Given the description of an element on the screen output the (x, y) to click on. 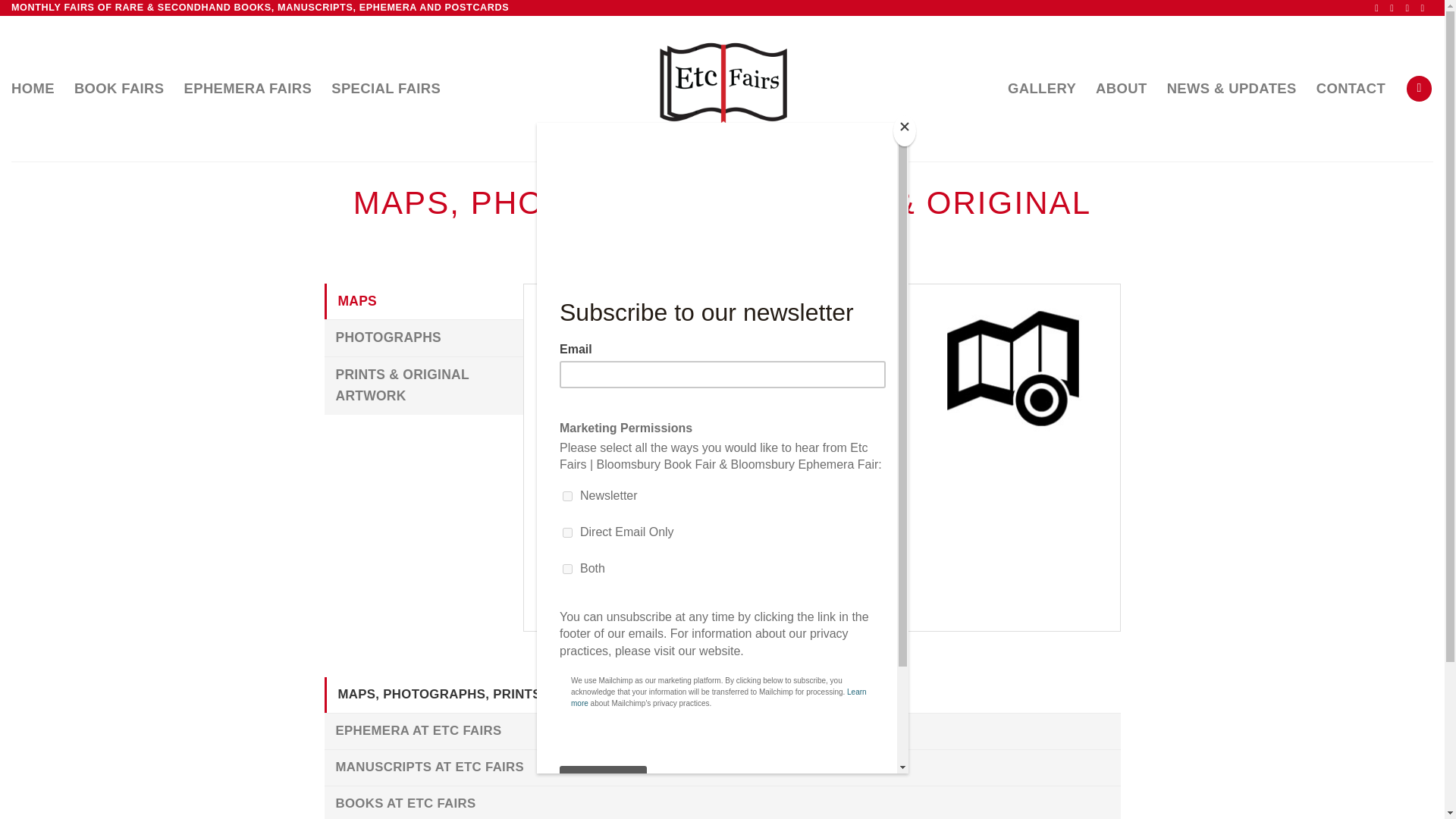
ABOUT (1121, 88)
BOOKS AT ETC FAIRS (722, 802)
Send us an email (1426, 8)
EPHEMERA AT ETC FAIRS (722, 731)
GALLERY (1041, 88)
CONTACT (1351, 88)
MAPS (424, 301)
Follow on Instagram (1394, 8)
BOOK FAIRS (119, 88)
SPECIAL FAIRS (386, 88)
HOME (33, 88)
PHOTOGRAPHS (424, 338)
EPHEMERA FAIRS (248, 88)
Follow on Twitter (1410, 8)
Follow on Facebook (1379, 8)
